Given the description of an element on the screen output the (x, y) to click on. 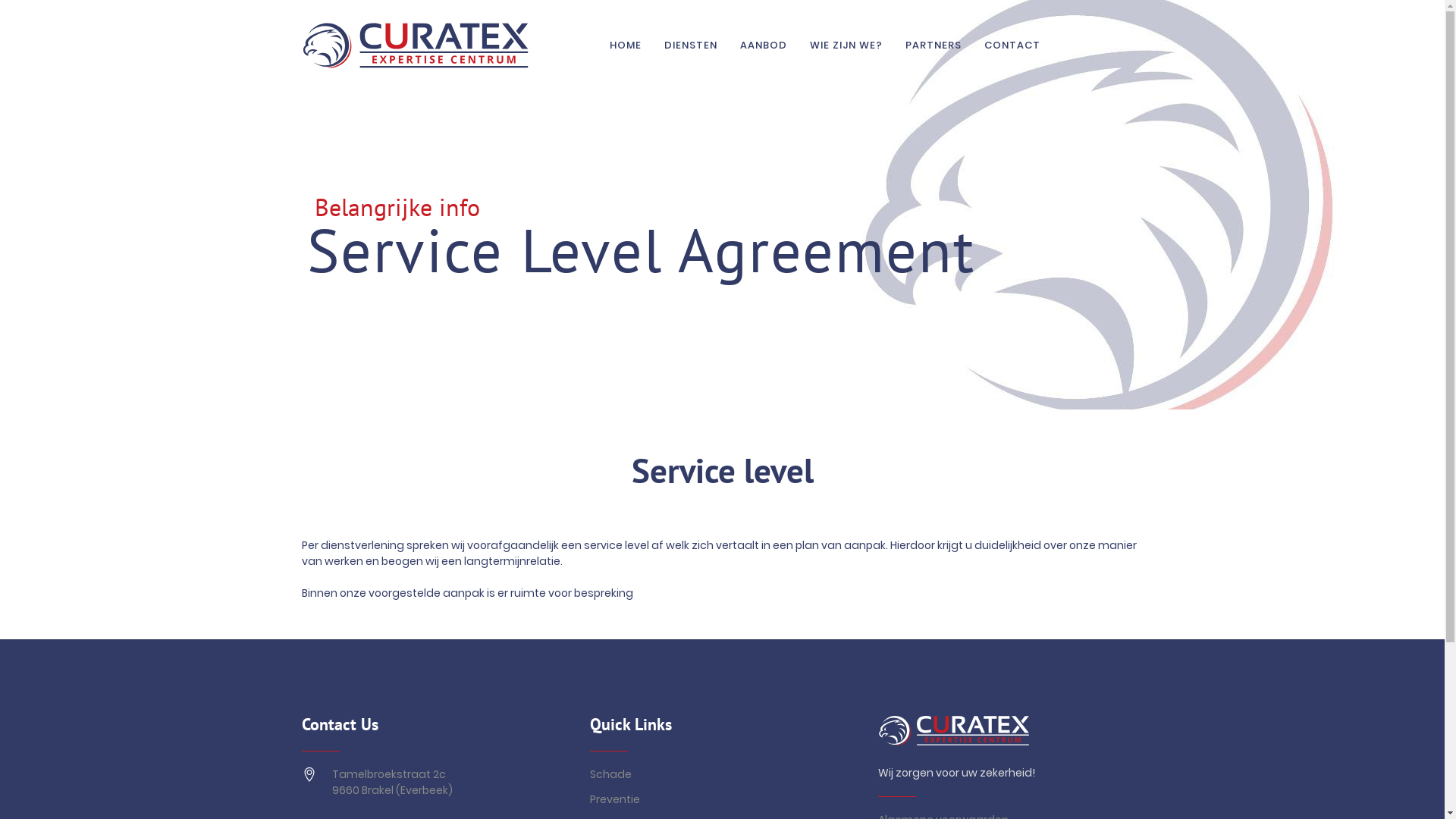
AANBOD Element type: text (769, 45)
DIENSTEN Element type: text (696, 45)
HOME Element type: text (630, 45)
Preventie Element type: text (614, 798)
Schade Element type: text (610, 773)
CONTACT Element type: text (1017, 45)
Curratex expertise Element type: hover (953, 730)
WIE ZIJN WE? Element type: text (851, 45)
PARTNERS Element type: text (938, 45)
